Given the description of an element on the screen output the (x, y) to click on. 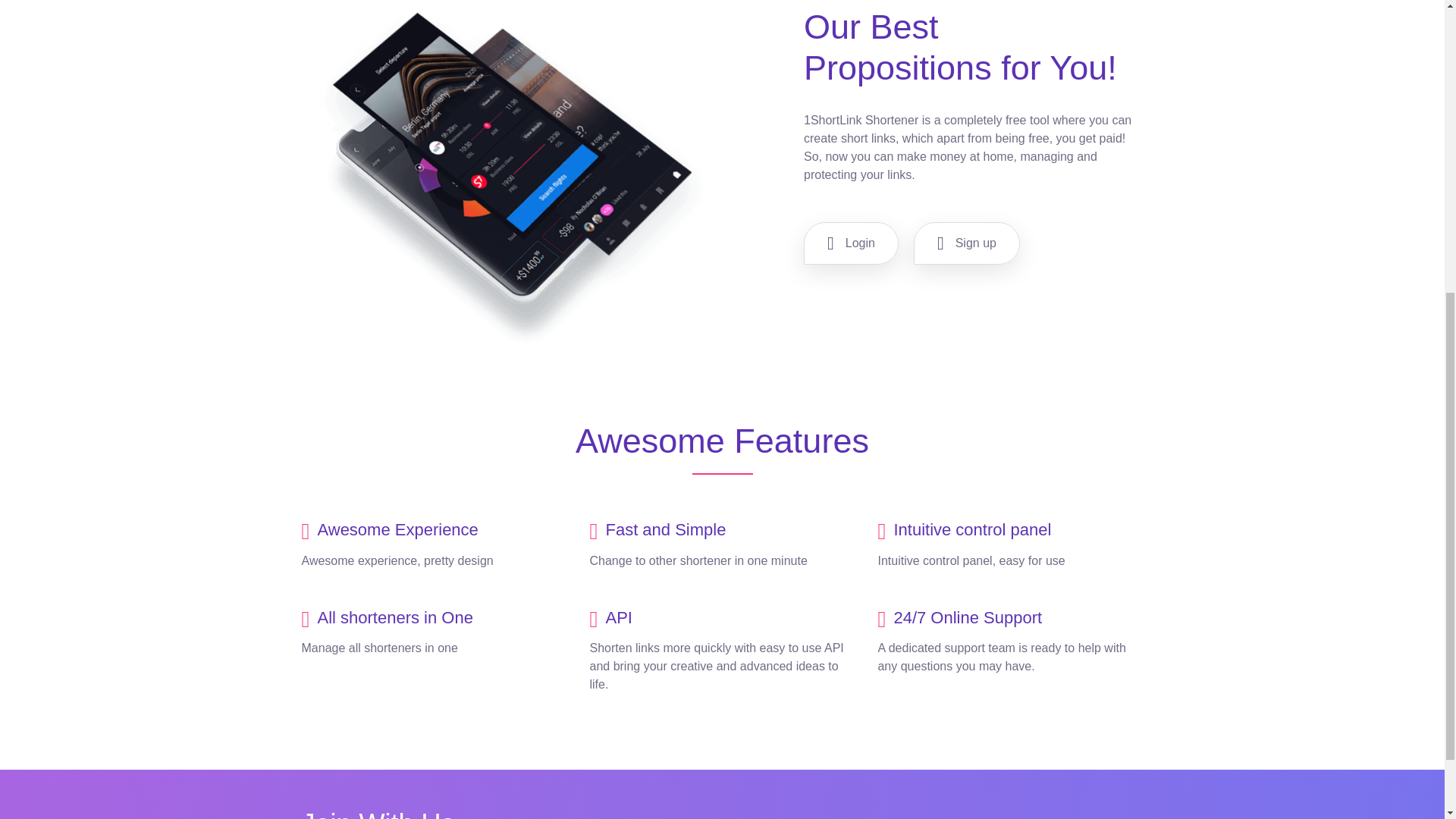
Sign up (967, 242)
Login (850, 242)
Privacy Policy (266, 191)
About (76, 191)
Contact (341, 191)
